Given the description of an element on the screen output the (x, y) to click on. 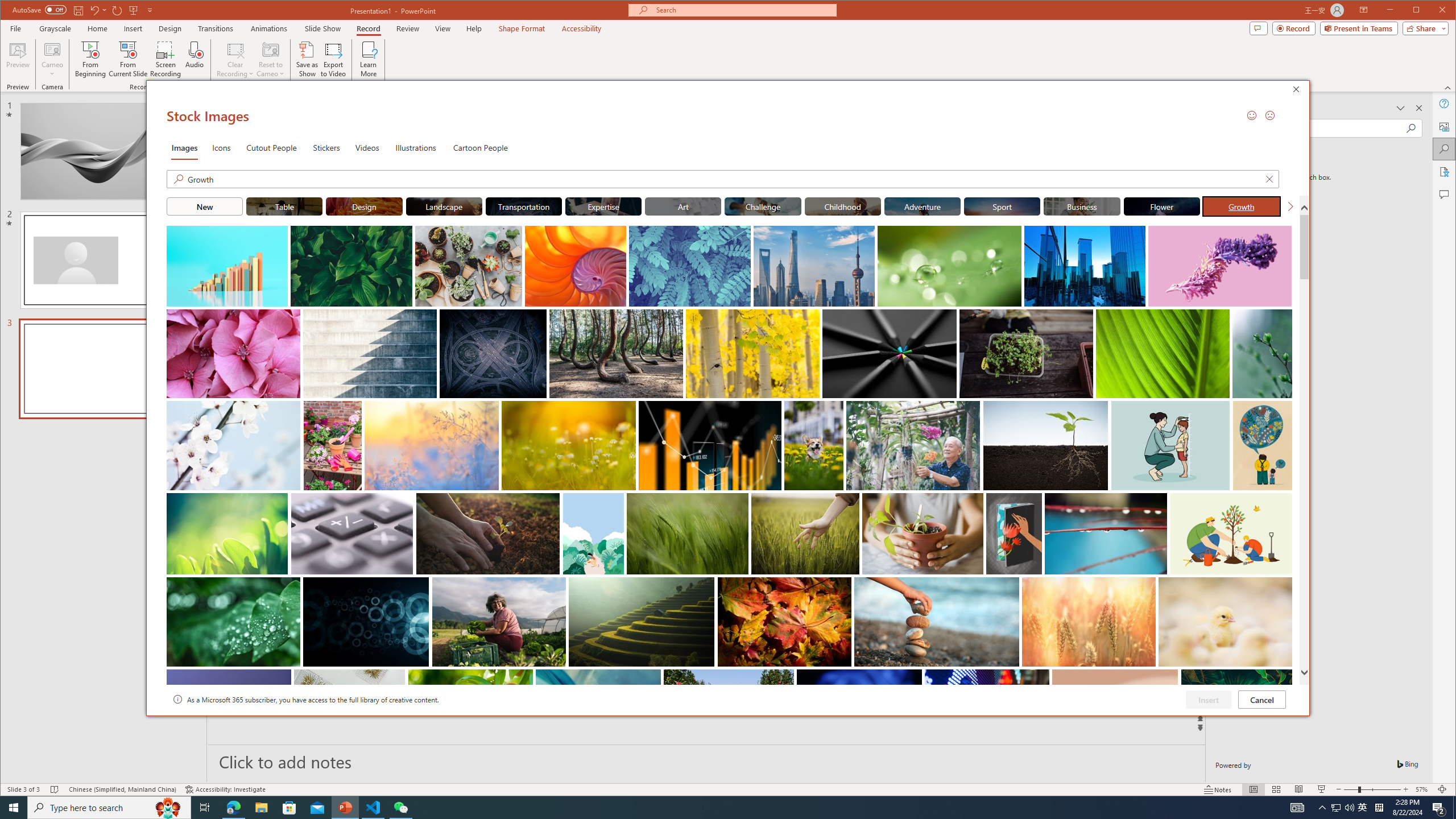
Accessibility Checker Accessibility: Investigate (1335, 807)
Tray Input Indicator - Chinese (Simplified, China) (225, 789)
Save (1378, 807)
Search (77, 9)
"Childhood" Stock Images. (1444, 148)
WeChat - 1 running window (842, 206)
